Given the description of an element on the screen output the (x, y) to click on. 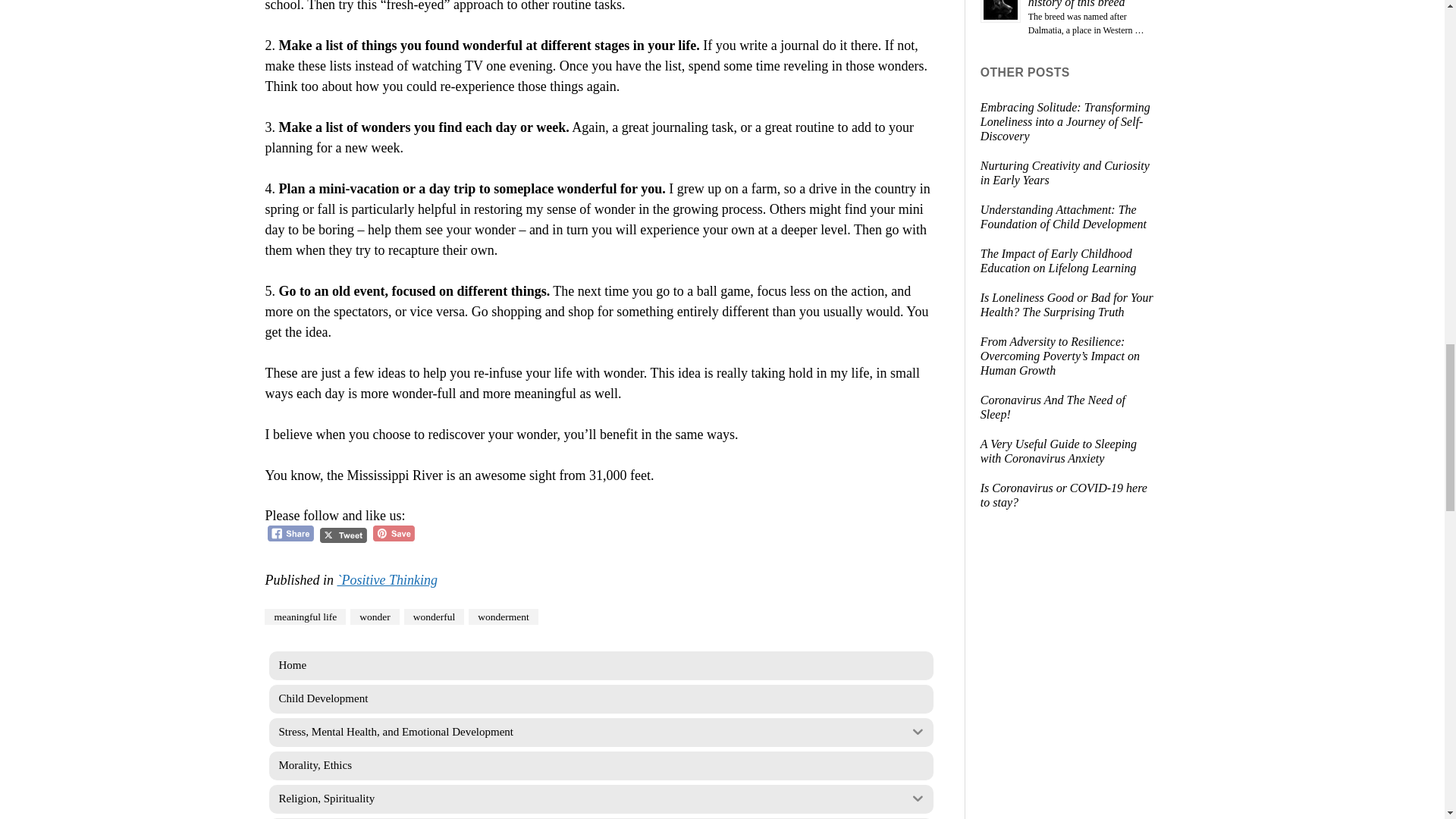
View all posts tagged wonderment (502, 616)
Facebook Share (290, 533)
View all posts tagged wonderful (434, 616)
View all posts tagged wonder (374, 616)
Pin Share (393, 533)
View all posts tagged meaningful life (305, 616)
Tweet (343, 535)
